Given the description of an element on the screen output the (x, y) to click on. 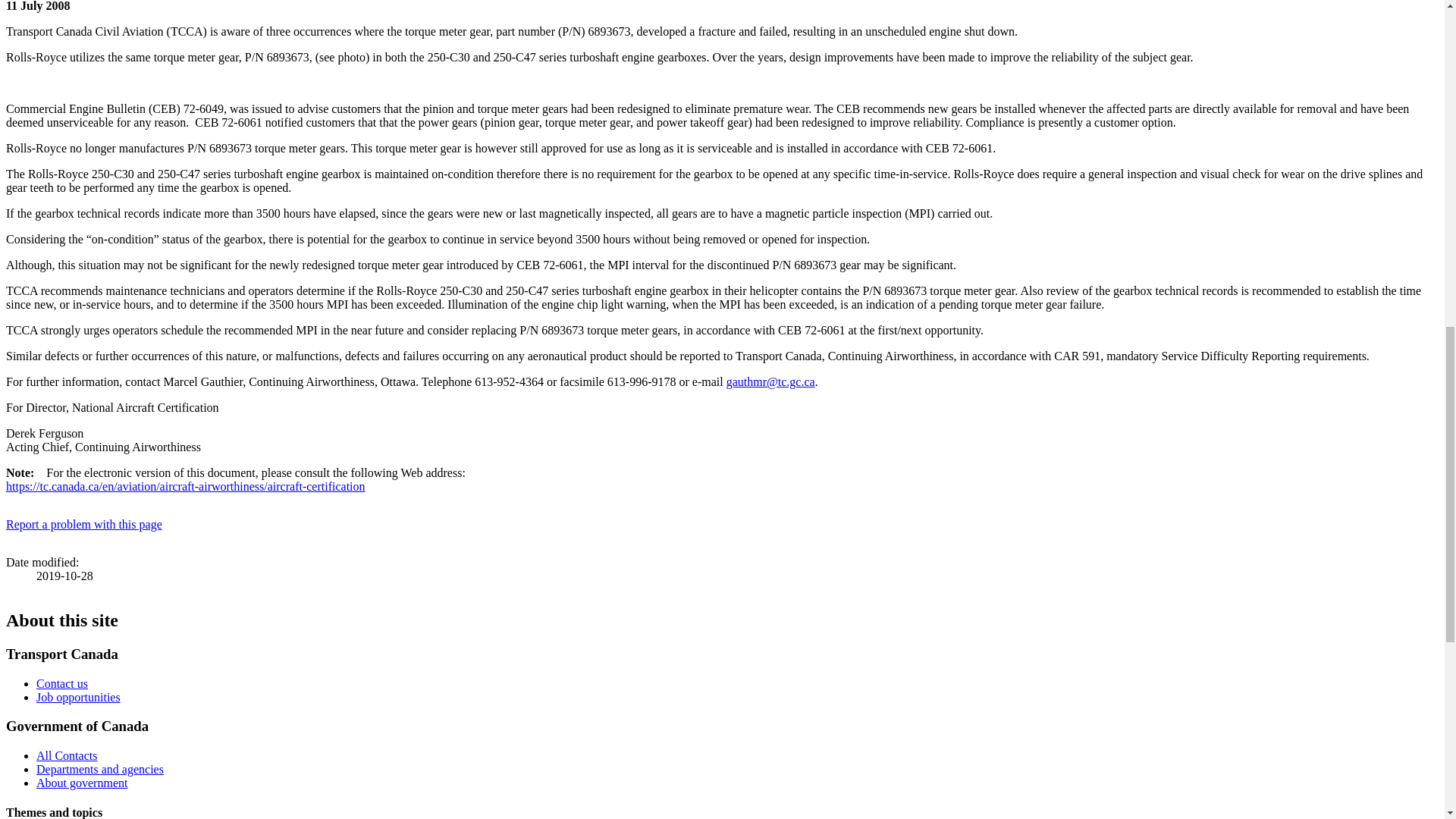
Contact us (61, 683)
Job opportunities (78, 697)
Departments and agencies (99, 768)
About government section. (82, 782)
Aircraft certification (185, 486)
Contact Transport Canada (61, 683)
All Contacts section. (66, 755)
Departments and agencies section. (99, 768)
Job opportunities (78, 697)
Report a problem with this page (83, 523)
